Given the description of an element on the screen output the (x, y) to click on. 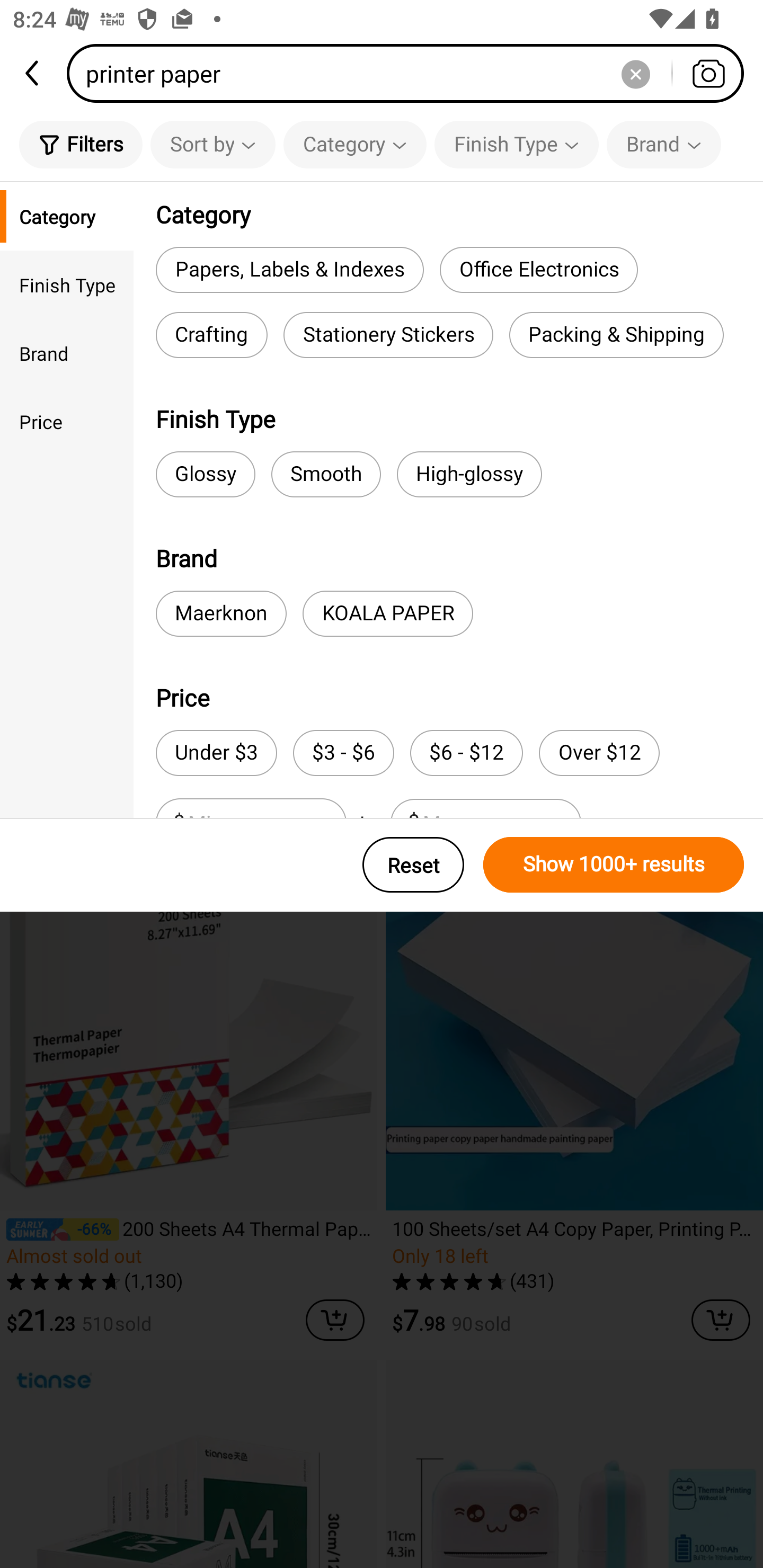
back (33, 72)
printer paper (411, 73)
Delete search history (635, 73)
Search by photo (708, 73)
Filters (80, 143)
Sort by (212, 143)
Category (354, 143)
Finish Type (516, 143)
Brand (663, 143)
Category (66, 215)
Papers, Labels & Indexes (289, 269)
Office Electronics (538, 269)
Finish Type (66, 284)
Crafting (211, 334)
Stationery Stickers (388, 334)
Packing & Shipping (616, 334)
Brand (66, 352)
Price (66, 421)
Glossy (205, 474)
Smooth (325, 474)
High-glossy (468, 474)
Maerknon (220, 613)
KOALA PAPER (387, 613)
Under $3 (215, 753)
$3 - $6 (343, 753)
$6 - $12 (466, 753)
Over $12 (598, 753)
Reset (412, 864)
Show 1000+ results (612, 864)
